Given the description of an element on the screen output the (x, y) to click on. 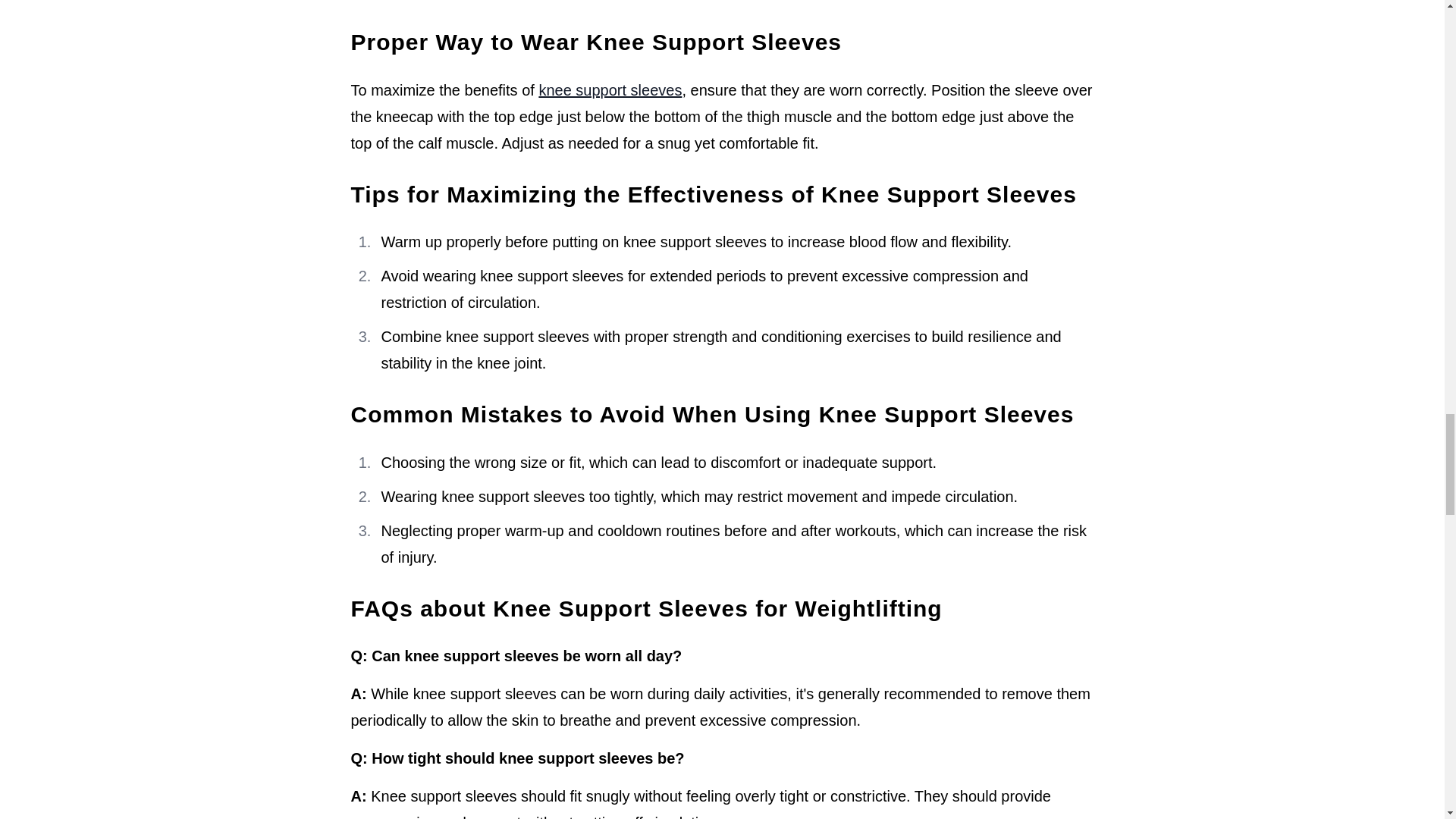
knee support sleeves (609, 89)
